Given the description of an element on the screen output the (x, y) to click on. 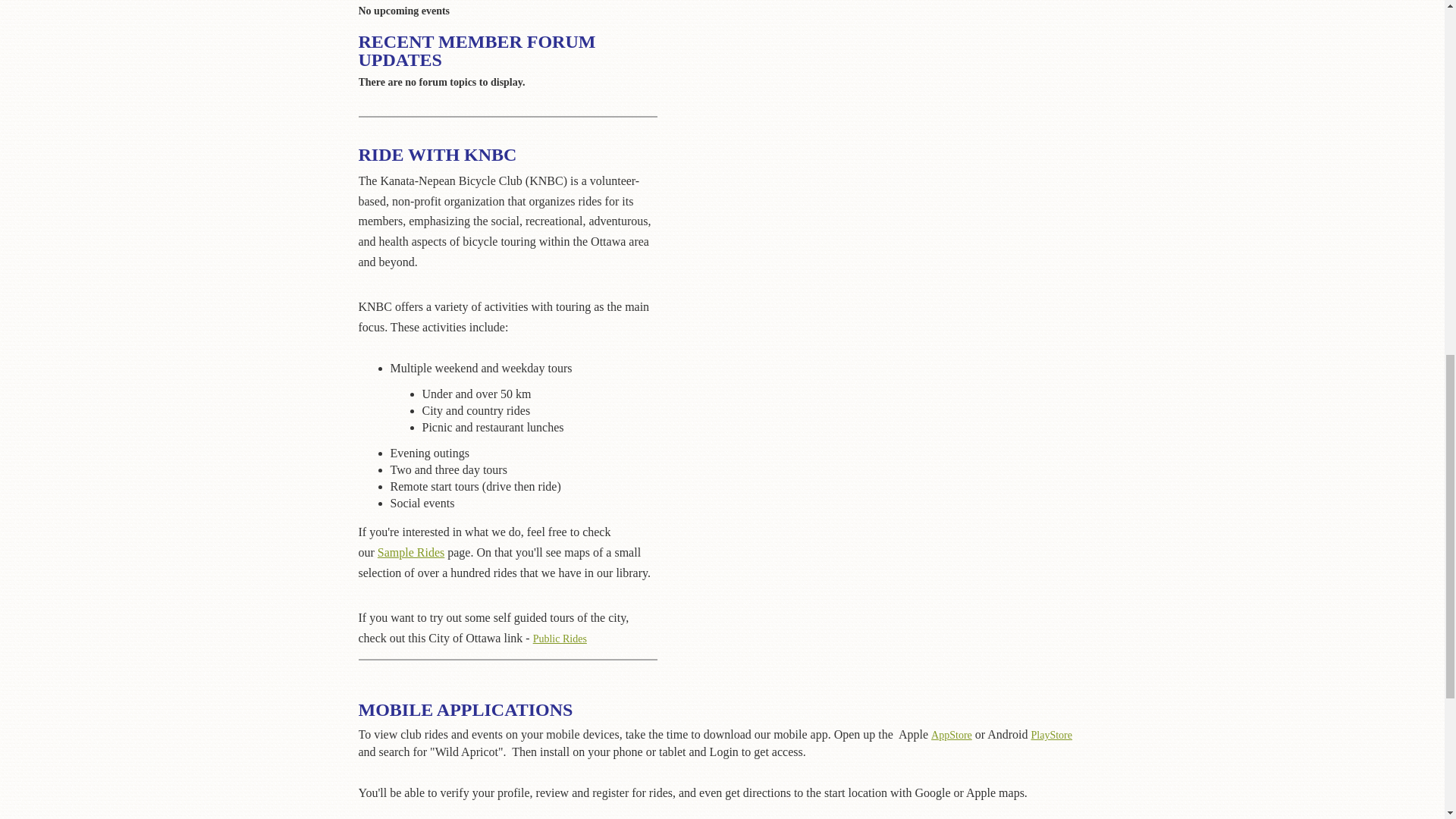
Public Rides (508, 647)
AppStore (951, 735)
Sample Rides (410, 552)
PlayStore (1050, 735)
